Given the description of an element on the screen output the (x, y) to click on. 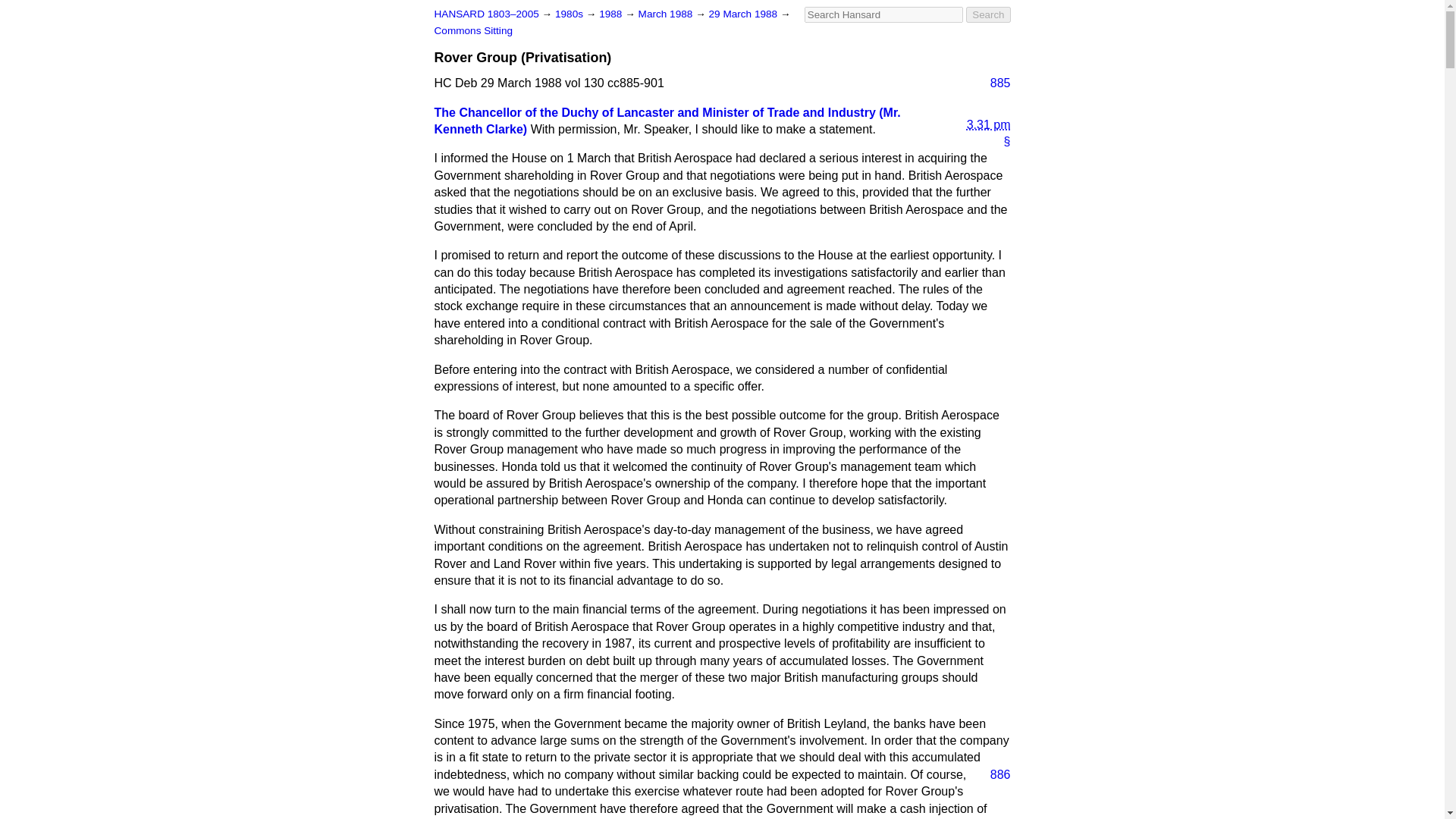
Search (988, 14)
Search (988, 14)
886 (994, 774)
Link to this speech by Mr Kenneth Clarke (1000, 141)
Commons Sitting (472, 30)
3.31 pm (976, 112)
1988 (611, 13)
29 March 1988 (742, 13)
Access key: S (883, 14)
1980s (570, 13)
